Given the description of an element on the screen output the (x, y) to click on. 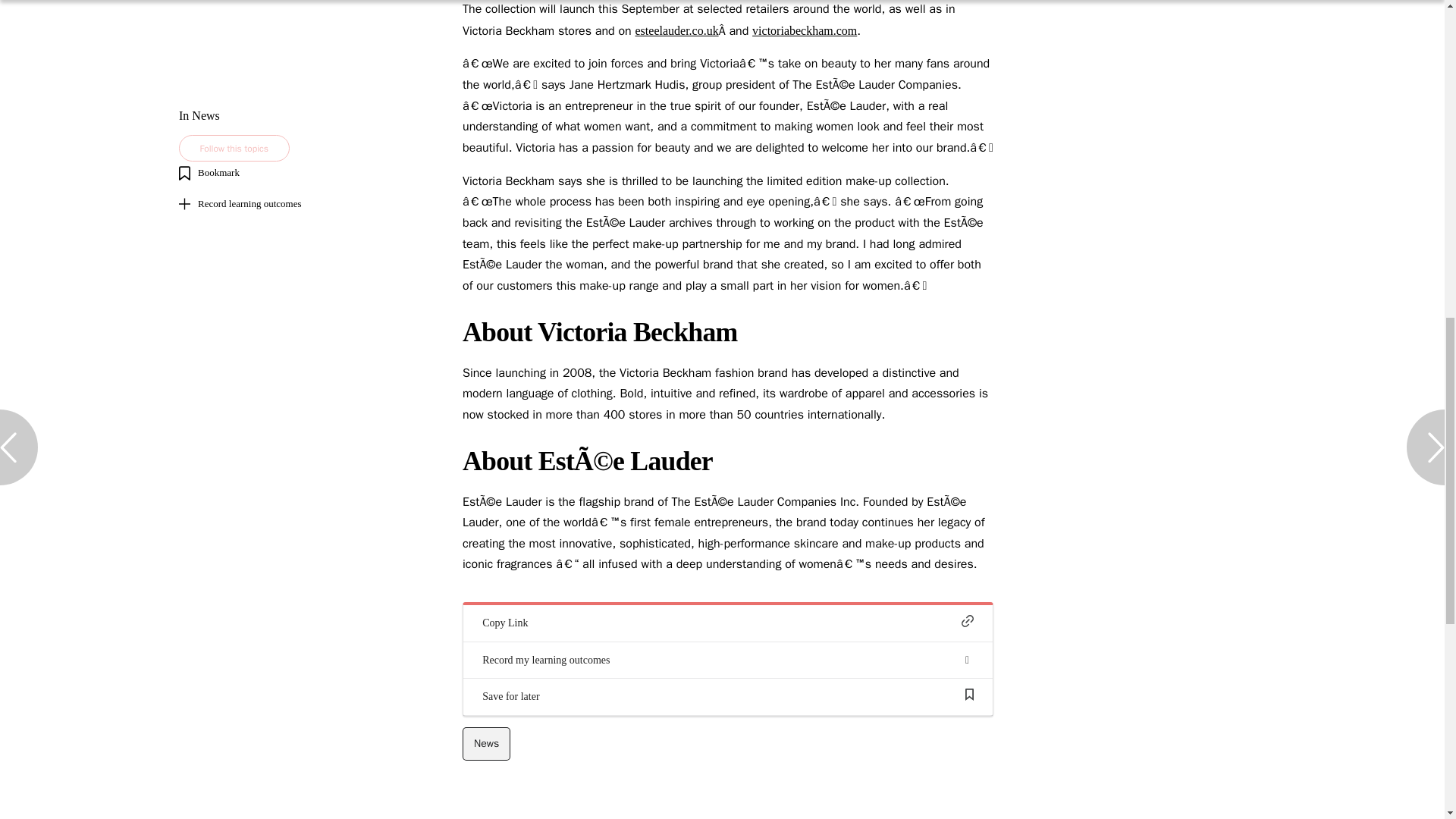
News (487, 743)
esteelauder.co.uk (676, 30)
victoriabeckham.com (804, 30)
